Given the description of an element on the screen output the (x, y) to click on. 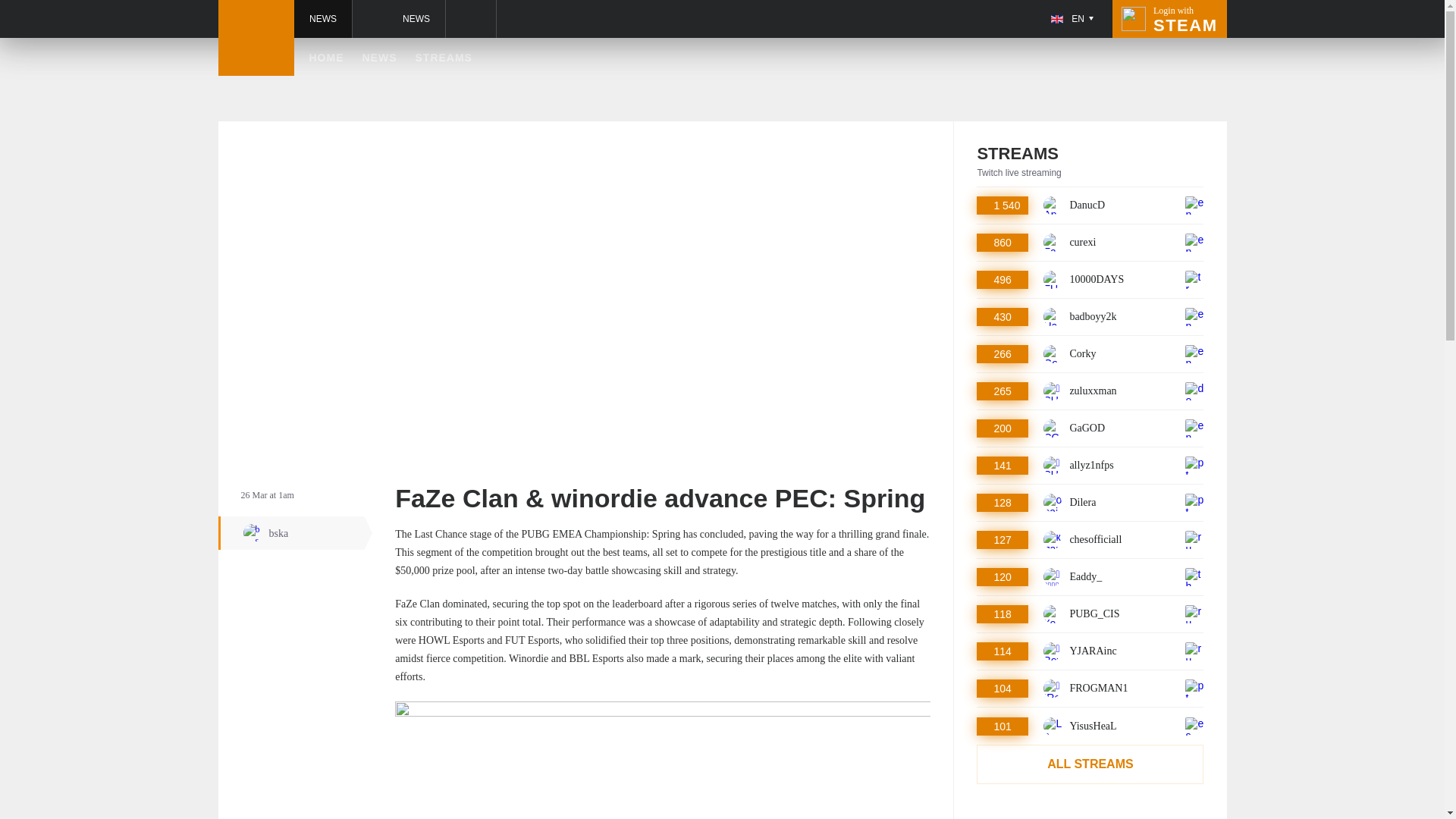
bska (1090, 205)
STREAMS (1090, 353)
HOME (1090, 279)
NEWS (295, 532)
